Given the description of an element on the screen output the (x, y) to click on. 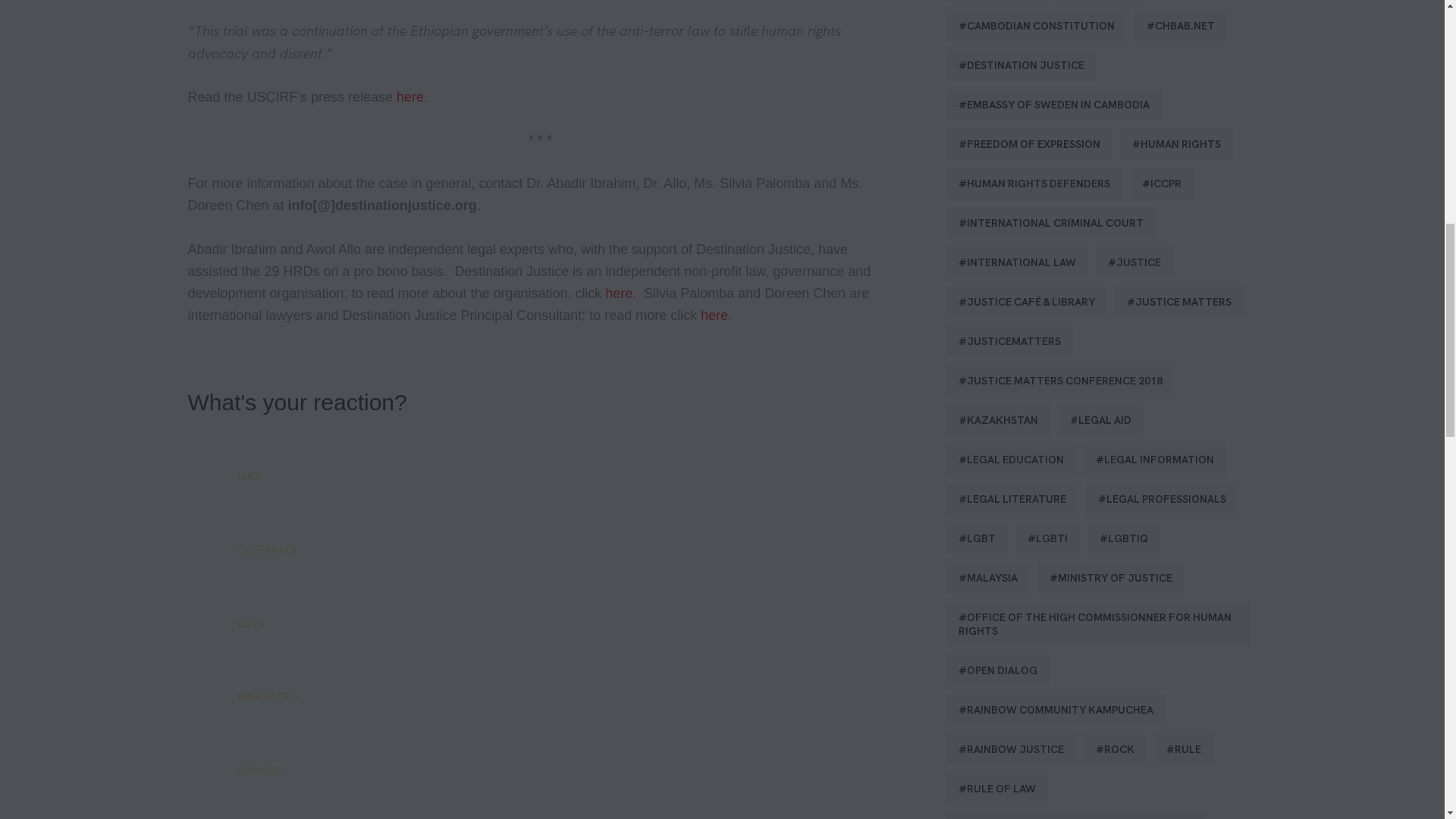
here (714, 314)
here (409, 96)
here (618, 293)
